Given the description of an element on the screen output the (x, y) to click on. 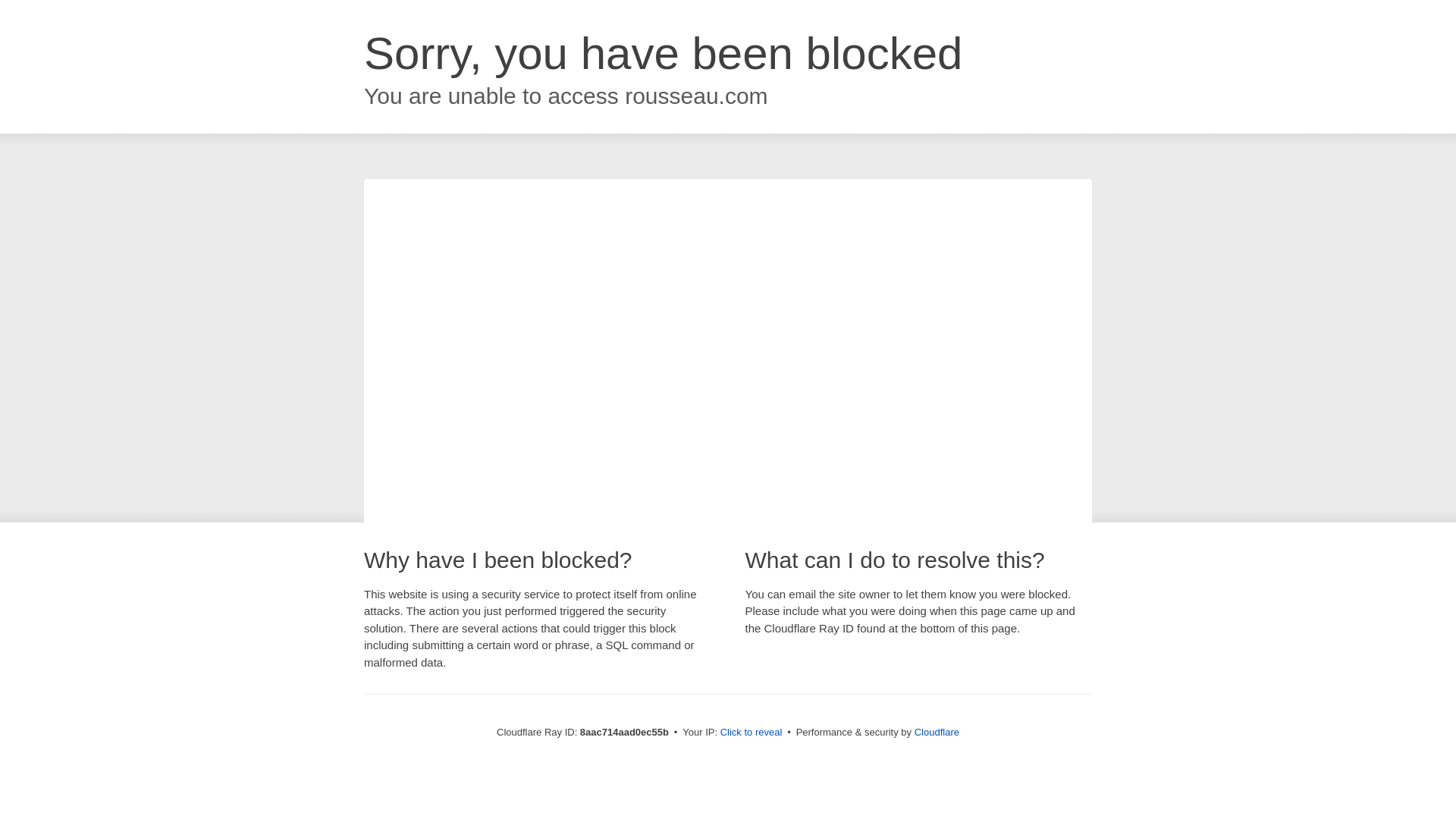
Click to reveal (751, 732)
Cloudflare (936, 731)
